Given the description of an element on the screen output the (x, y) to click on. 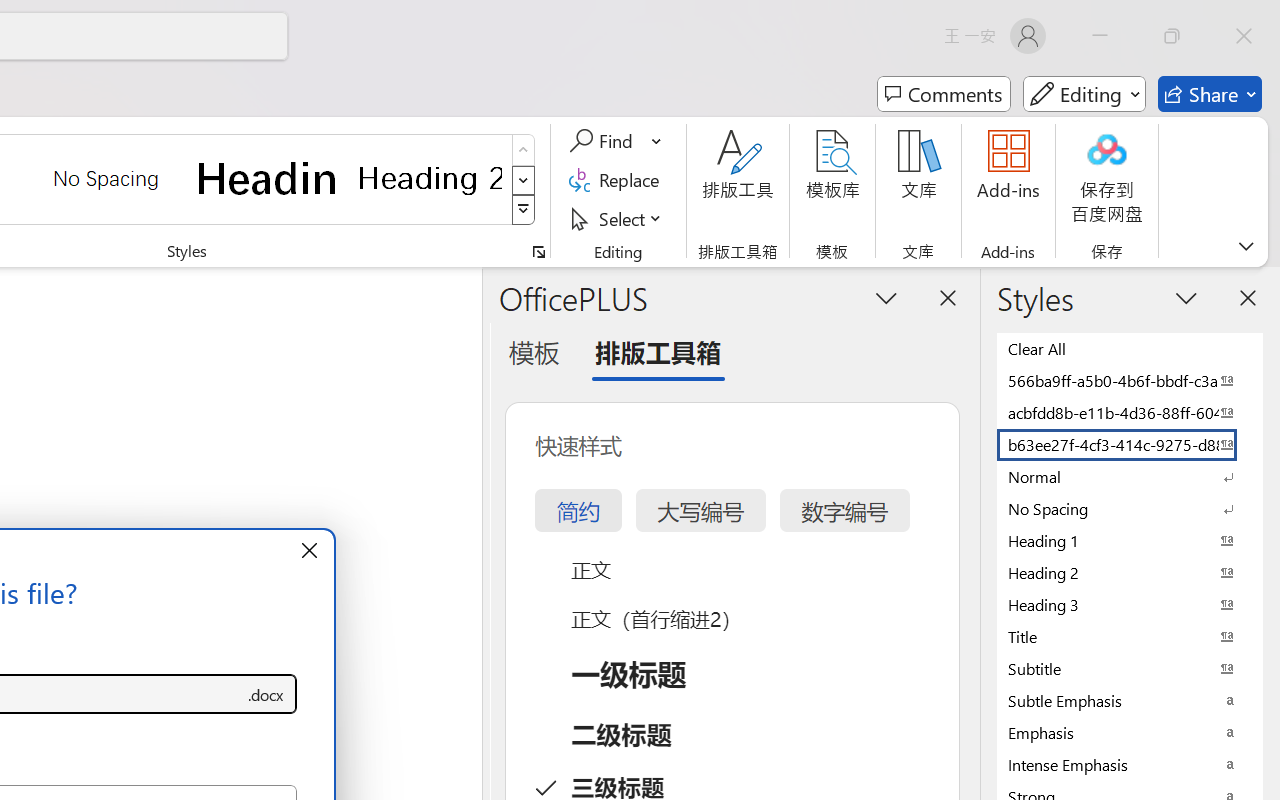
Task Pane Options (886, 297)
Title (1130, 636)
Styles (523, 209)
